Given the description of an element on the screen output the (x, y) to click on. 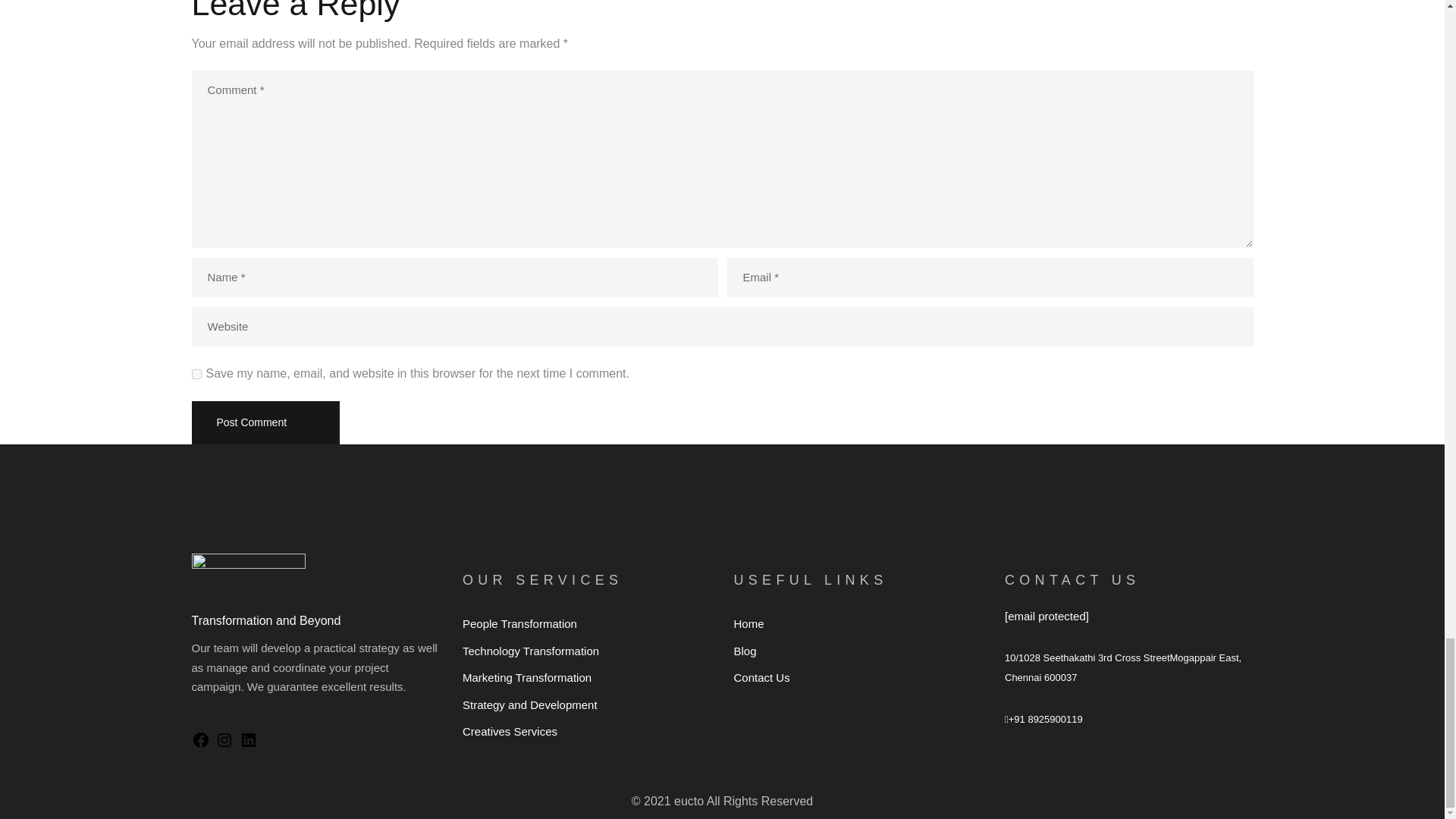
yes (195, 374)
